Given the description of an element on the screen output the (x, y) to click on. 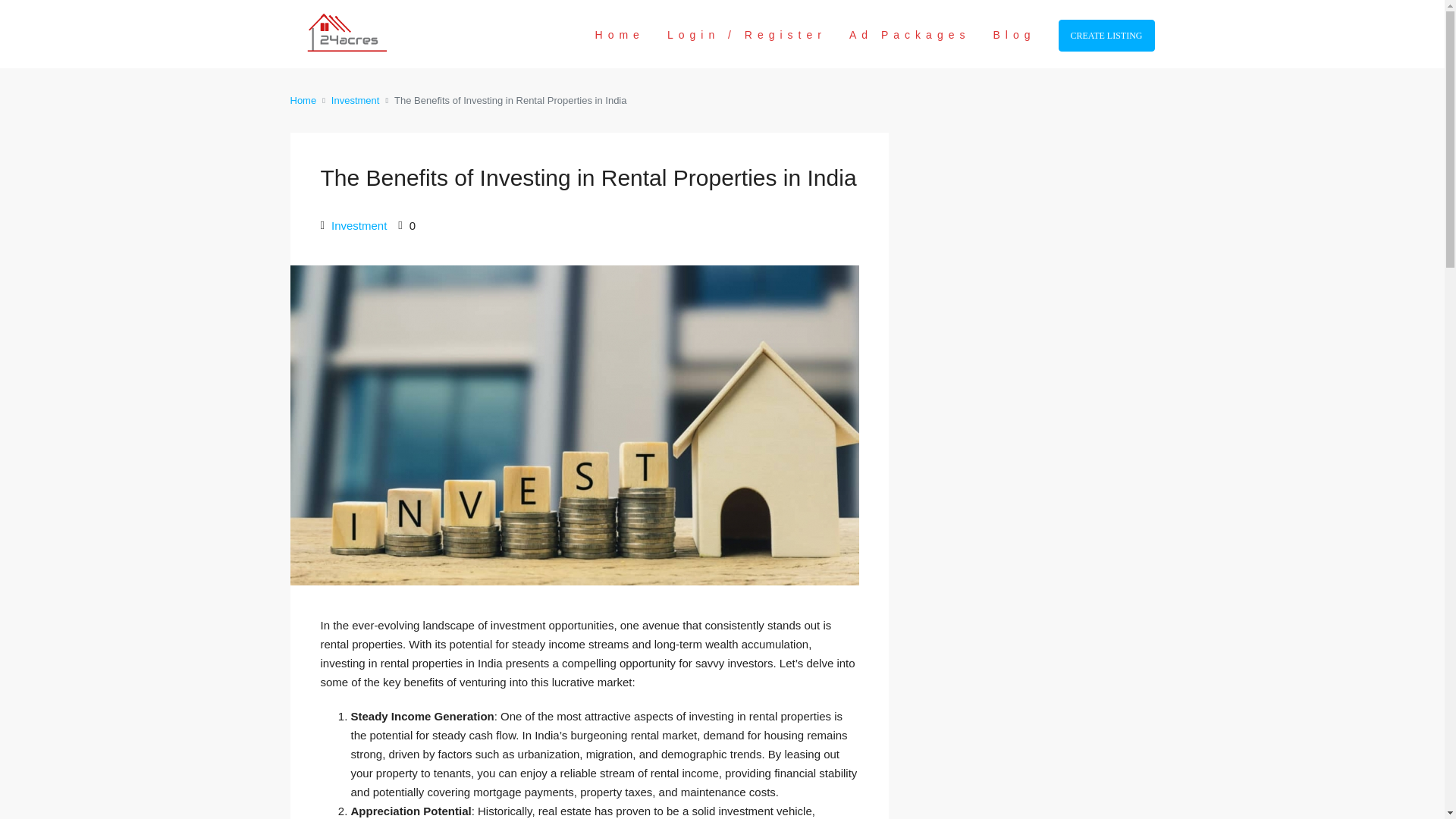
Blog (1013, 34)
CREATE LISTING (1106, 35)
Home (619, 34)
Ad Packages (909, 34)
Home (302, 99)
Investment (355, 99)
Investment (359, 225)
